Given the description of an element on the screen output the (x, y) to click on. 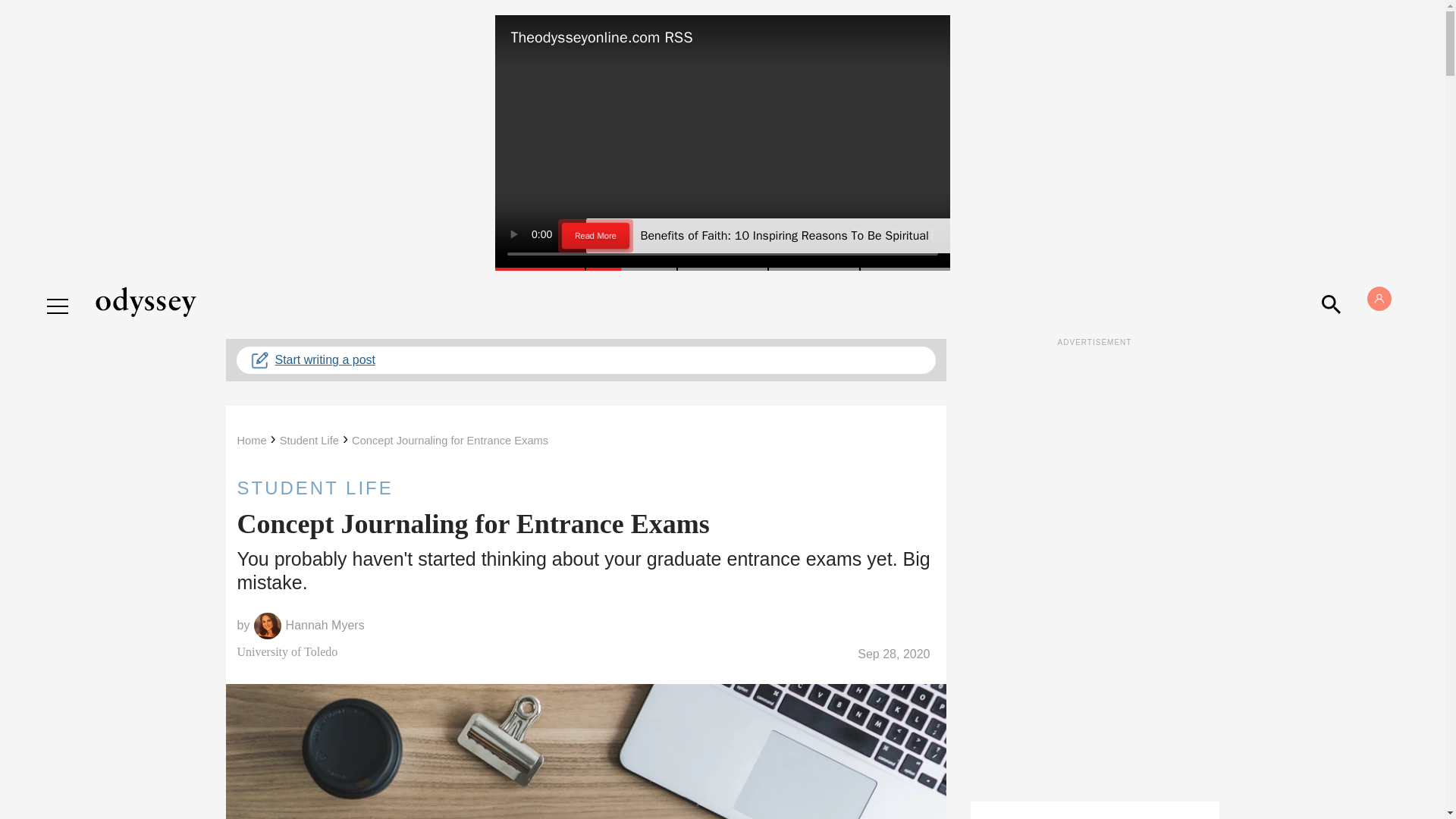
Start writing a post (585, 359)
STUDENT LIFE (584, 488)
Home (250, 440)
Student Life (309, 440)
Concept Journaling for Entrance Exams (450, 440)
Read More (596, 236)
